Given the description of an element on the screen output the (x, y) to click on. 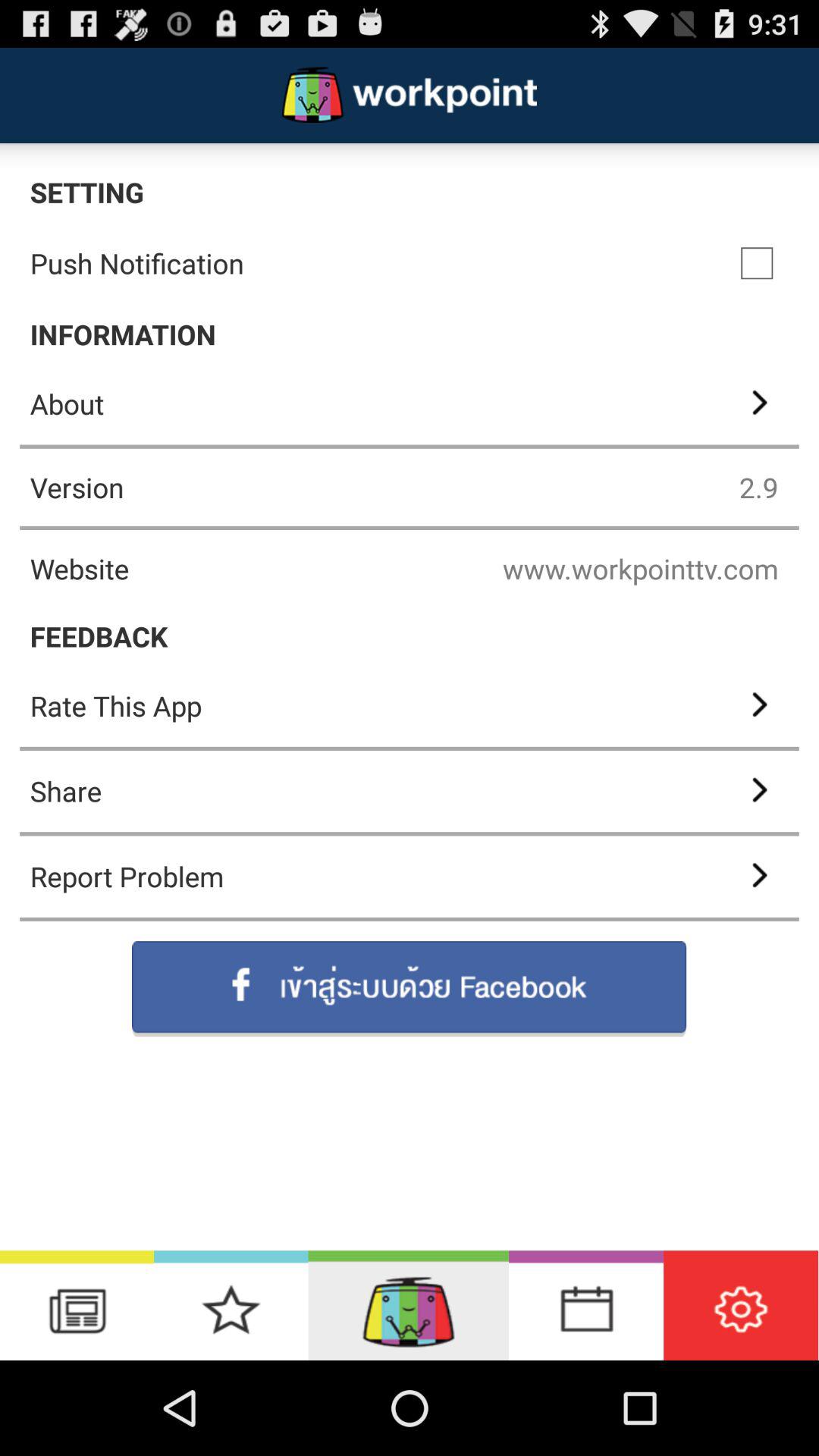
view news (77, 1305)
